Given the description of an element on the screen output the (x, y) to click on. 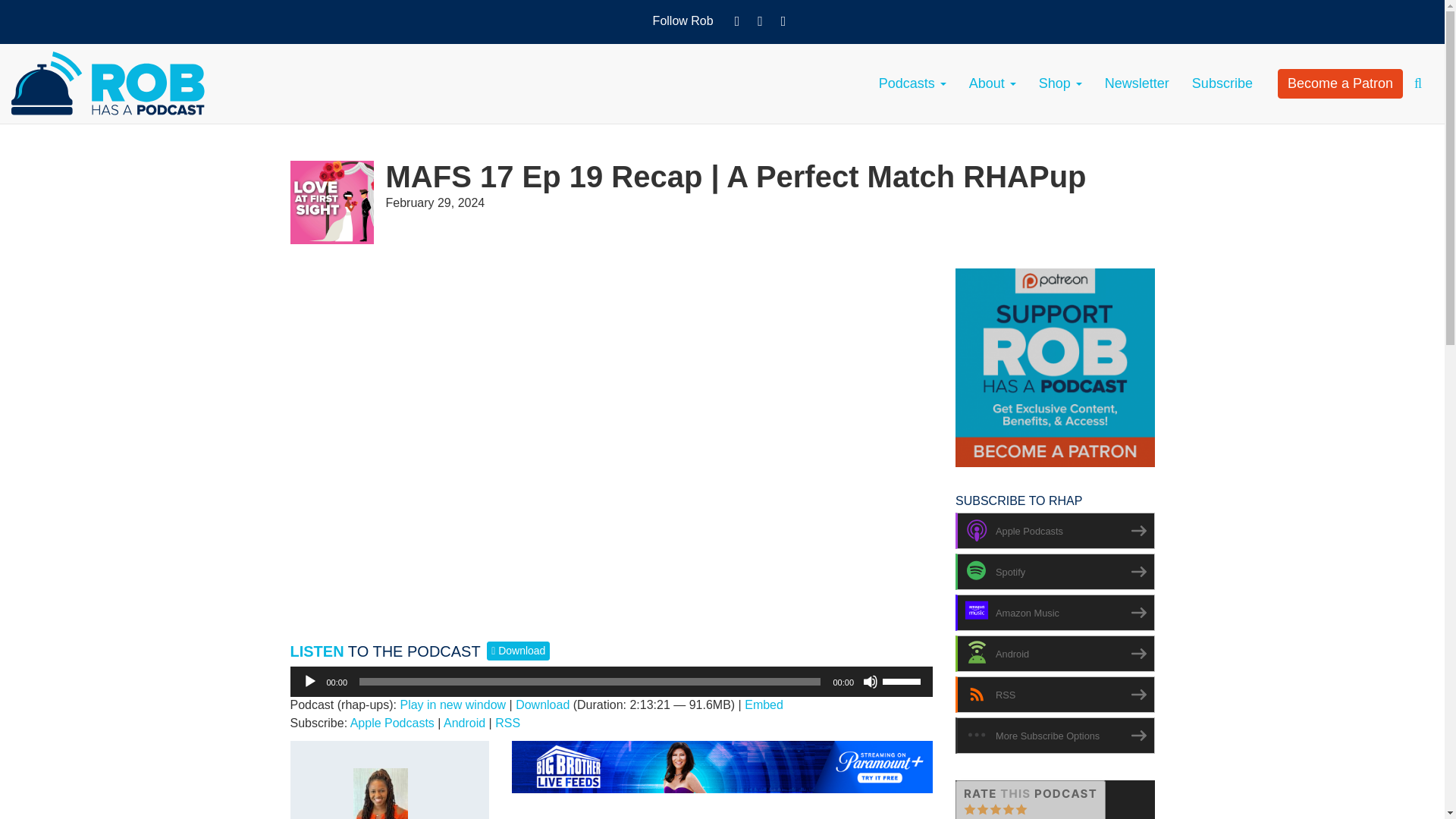
Subscribe on Android (464, 722)
Subscribe via RSS (507, 722)
Embed (763, 704)
Play (309, 681)
Mute (870, 681)
Podcasts (912, 83)
Download (542, 704)
Play in new window (451, 704)
Subscribe on Apple Podcasts (391, 722)
